Given the description of an element on the screen output the (x, y) to click on. 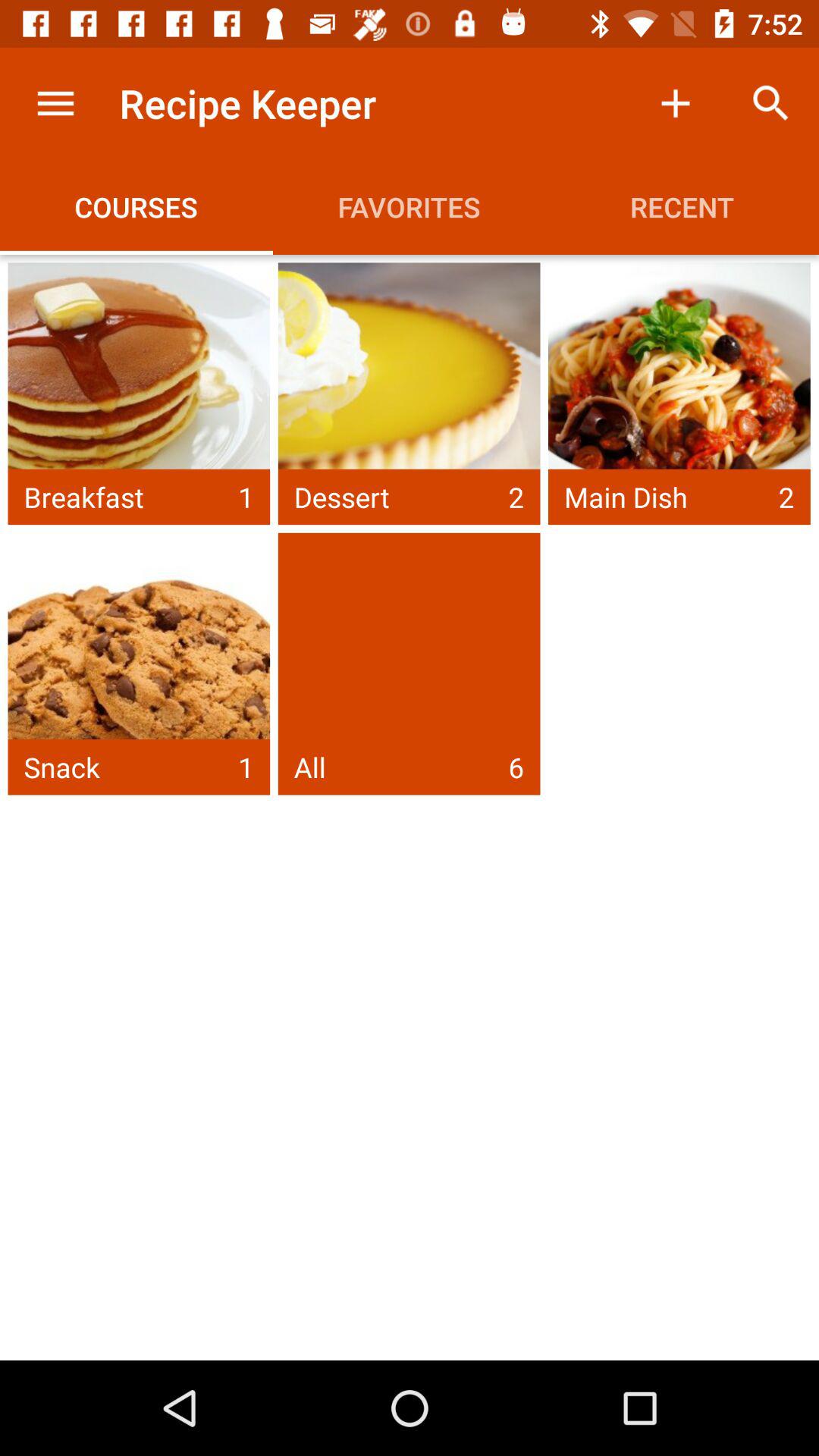
click on the first image in the second row from the top (139, 663)
